Given the description of an element on the screen output the (x, y) to click on. 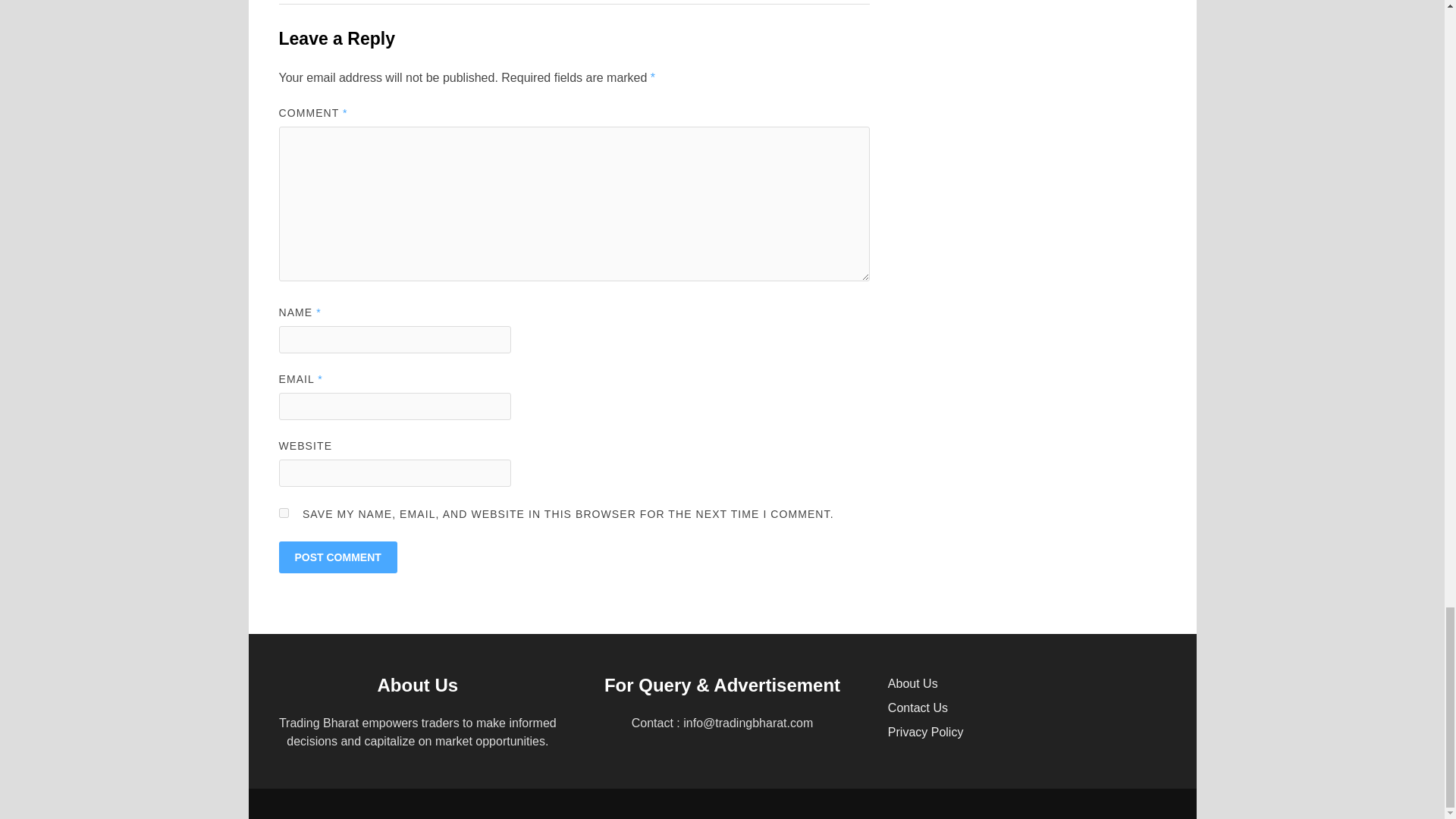
yes (283, 512)
Post Comment (338, 557)
